Given the description of an element on the screen output the (x, y) to click on. 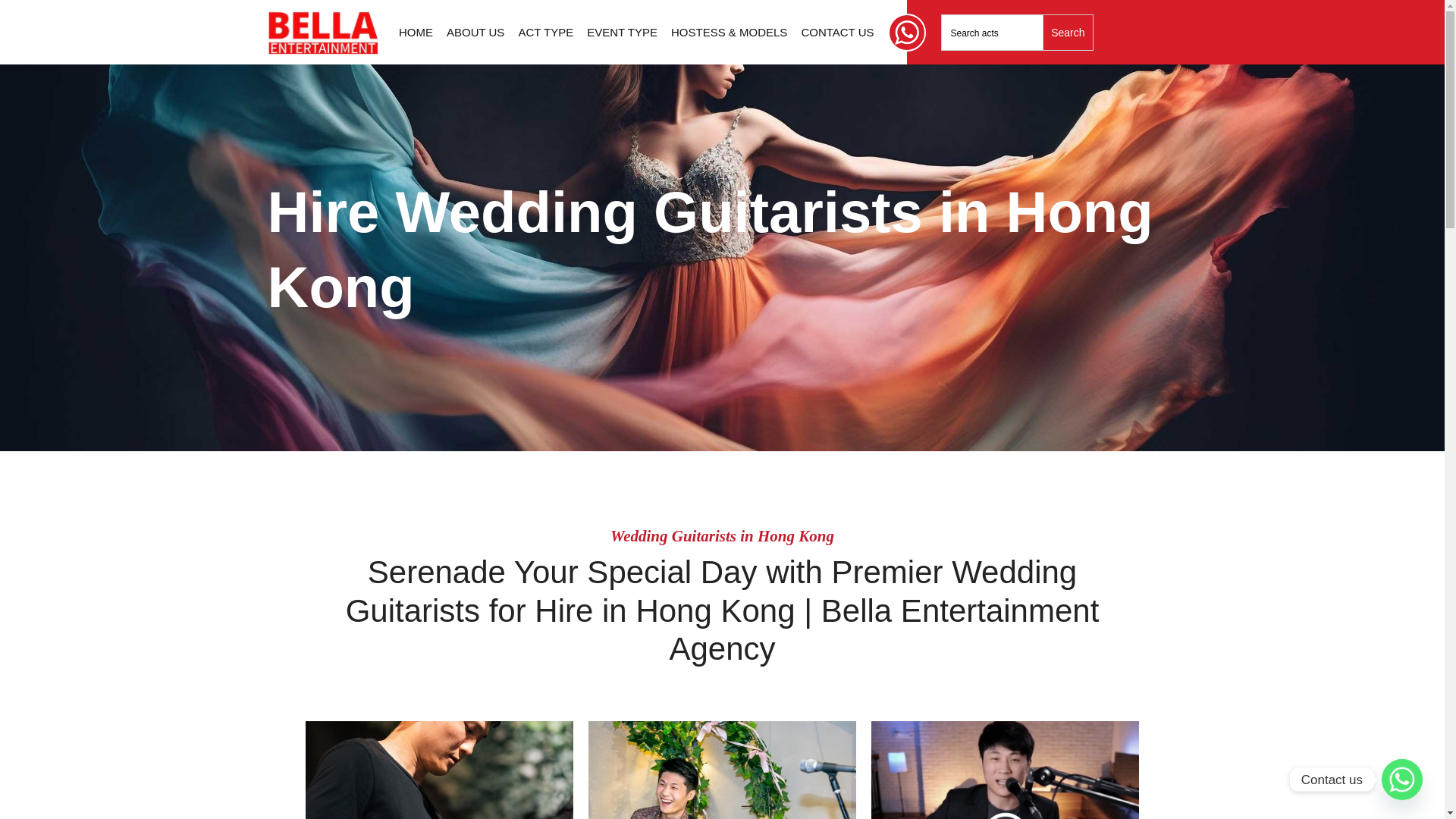
Search (1067, 31)
ABOUT US (474, 32)
Search (1067, 31)
